Given the description of an element on the screen output the (x, y) to click on. 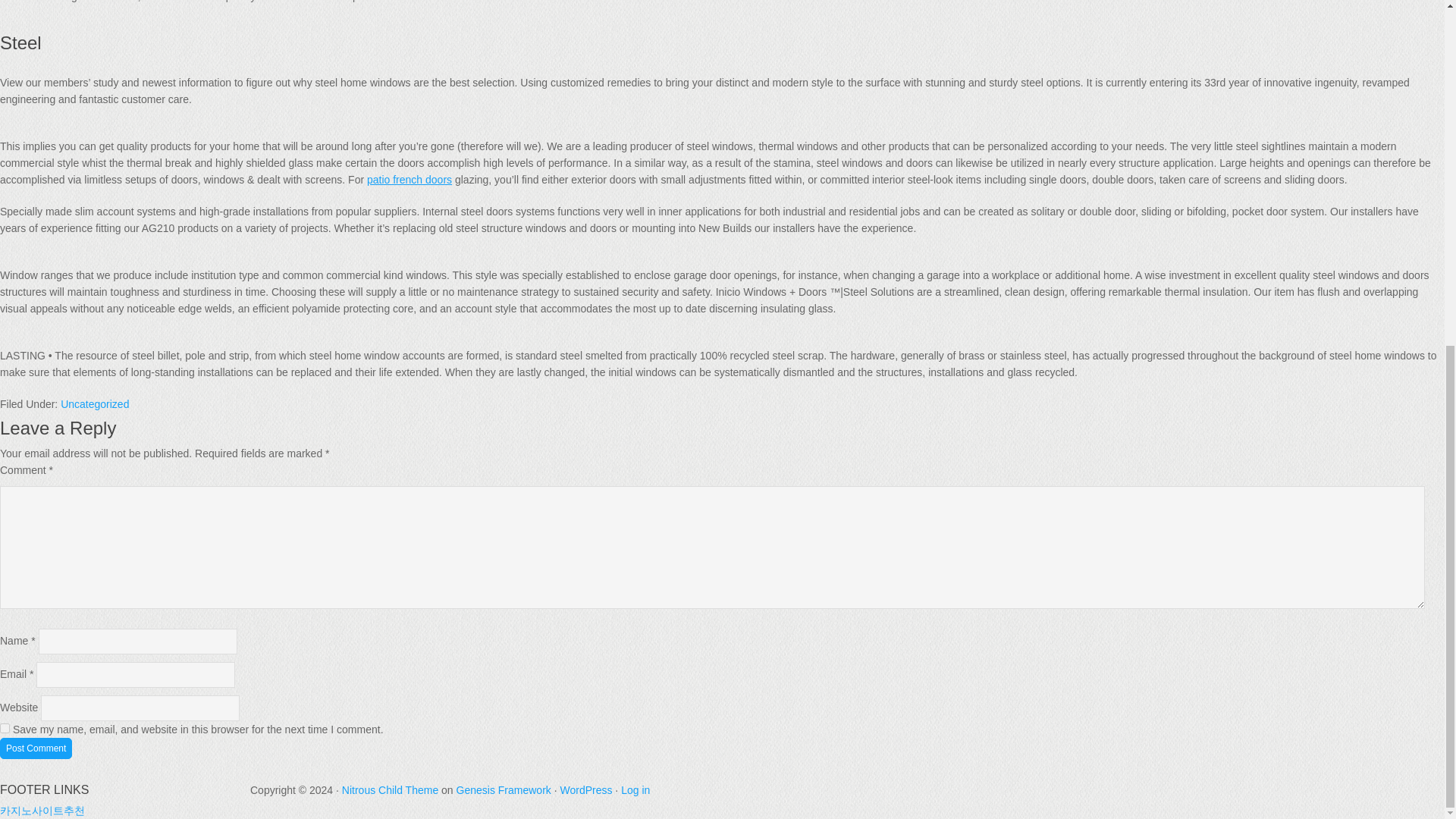
Genesis Framework (504, 789)
Log in (635, 789)
yes (5, 728)
Uncategorized (95, 404)
Post Comment (35, 748)
Post Comment (35, 748)
patio french doors (408, 179)
WordPress (585, 789)
Nitrous Child Theme (390, 789)
